Given the description of an element on the screen output the (x, y) to click on. 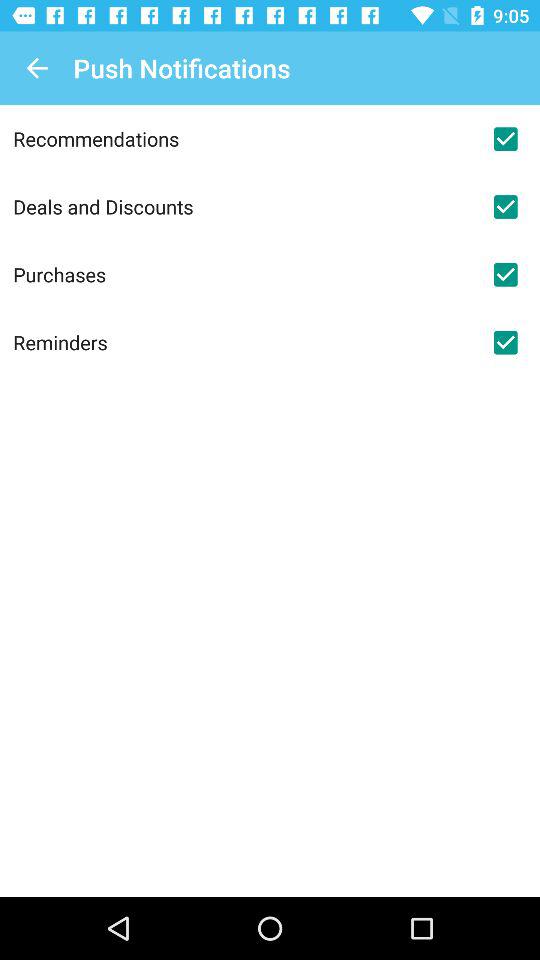
open icon above the recommendations item (36, 68)
